Given the description of an element on the screen output the (x, y) to click on. 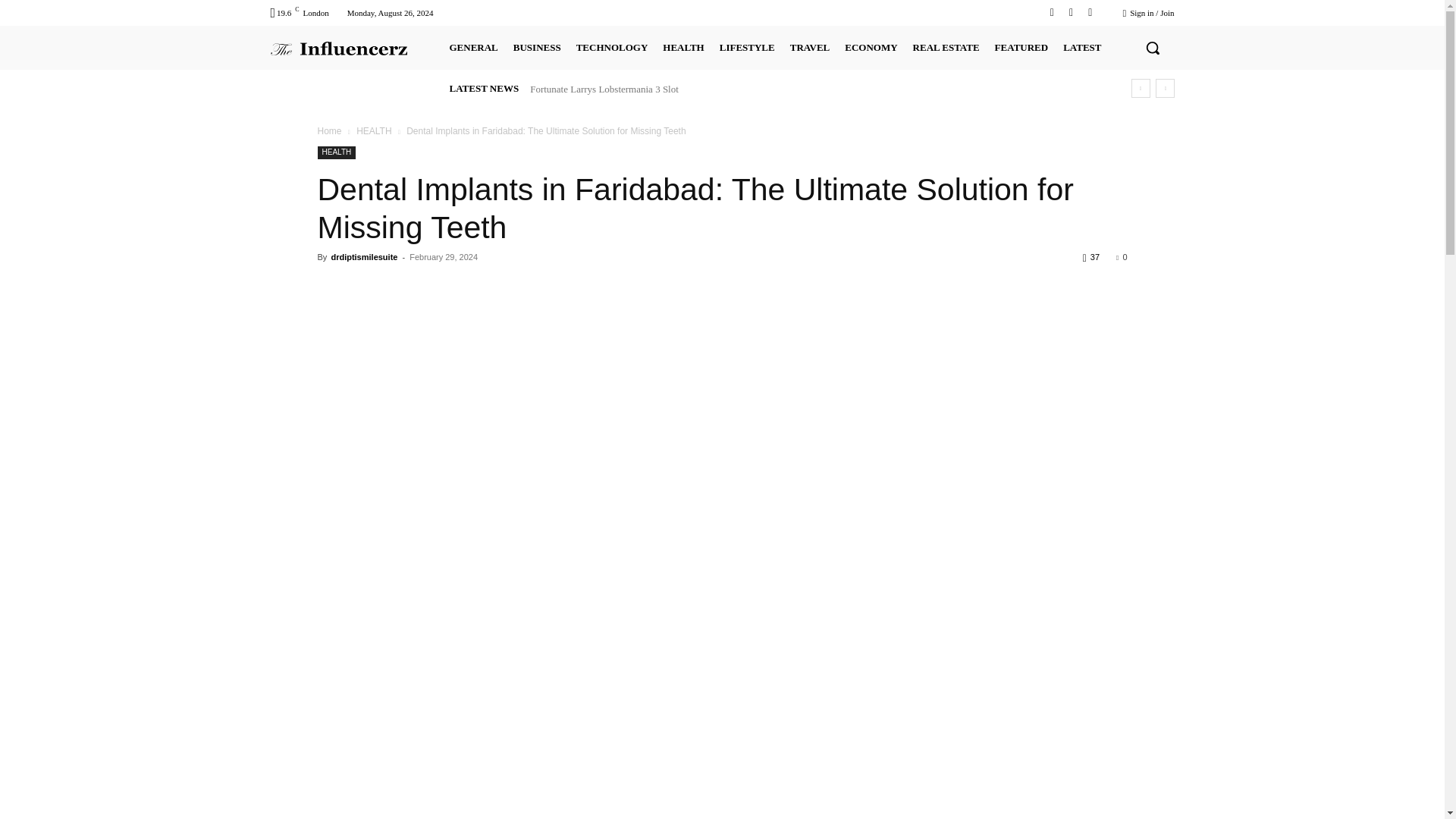
REAL ESTATE (946, 46)
GENERAL (472, 46)
TECHNOLOGY (611, 46)
FEATURED (1021, 46)
BUSINESS (536, 46)
Facebook (1051, 12)
Twitter (1070, 12)
TRAVEL (809, 46)
HEALTH (683, 46)
ECONOMY (870, 46)
